Given the description of an element on the screen output the (x, y) to click on. 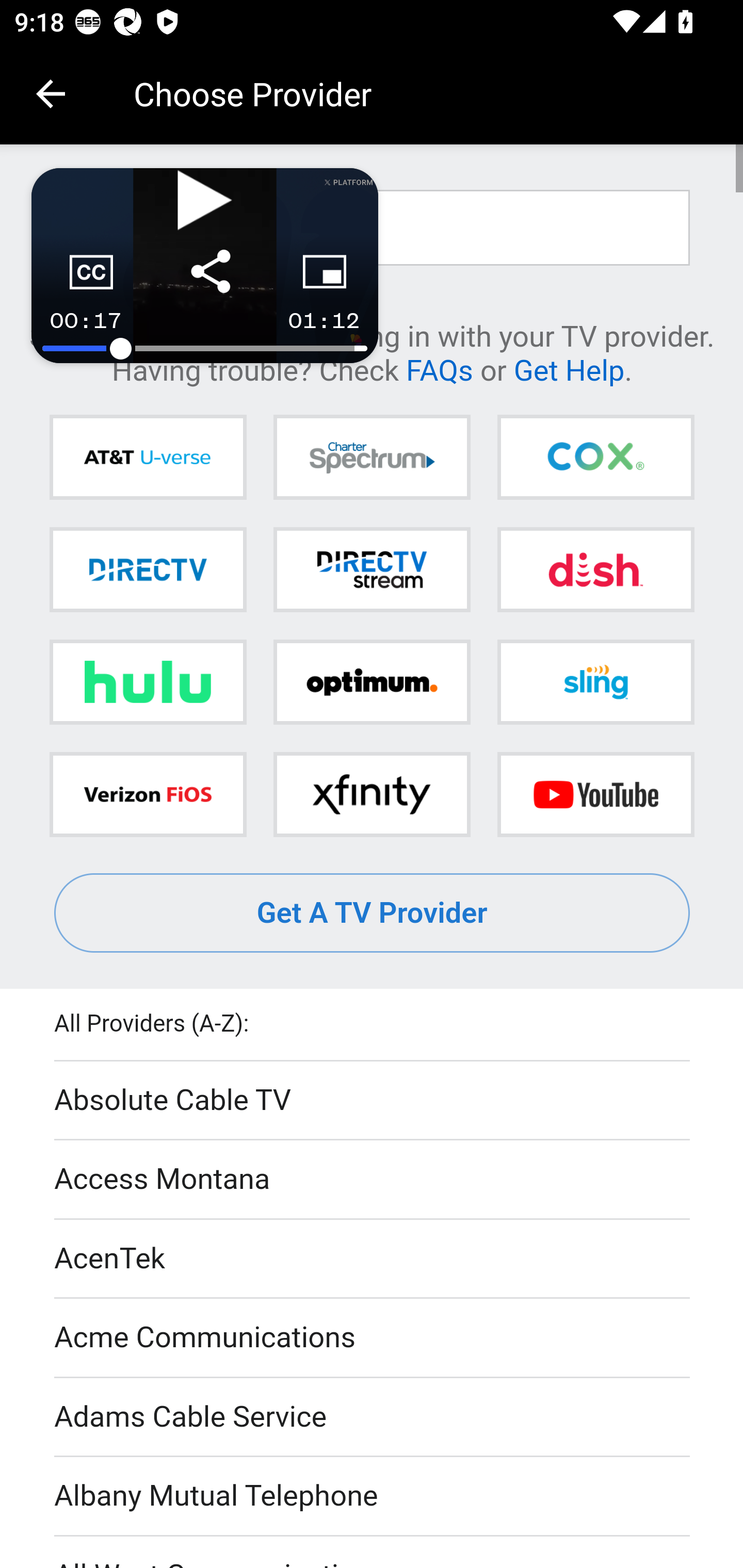
Navigate up (50, 93)
FAQs (438, 369)
Get Help (569, 369)
AT&T U-verse (147, 457)
Charter Spectrum (371, 457)
Cox (595, 457)
DIRECTV (147, 568)
DIRECTV STREAM (371, 568)
DISH (595, 568)
Hulu (147, 681)
Optimum (371, 681)
Sling TV (595, 681)
Verizon FiOS (147, 793)
Xfinity (371, 793)
YouTube TV (595, 793)
Get A TV Provider (372, 912)
Absolute Cable TV (372, 1100)
Access Montana (372, 1178)
AcenTek (372, 1258)
Acme Communications (372, 1338)
Adams Cable Service (372, 1417)
Albany Mutual Telephone (372, 1497)
